Given the description of an element on the screen output the (x, y) to click on. 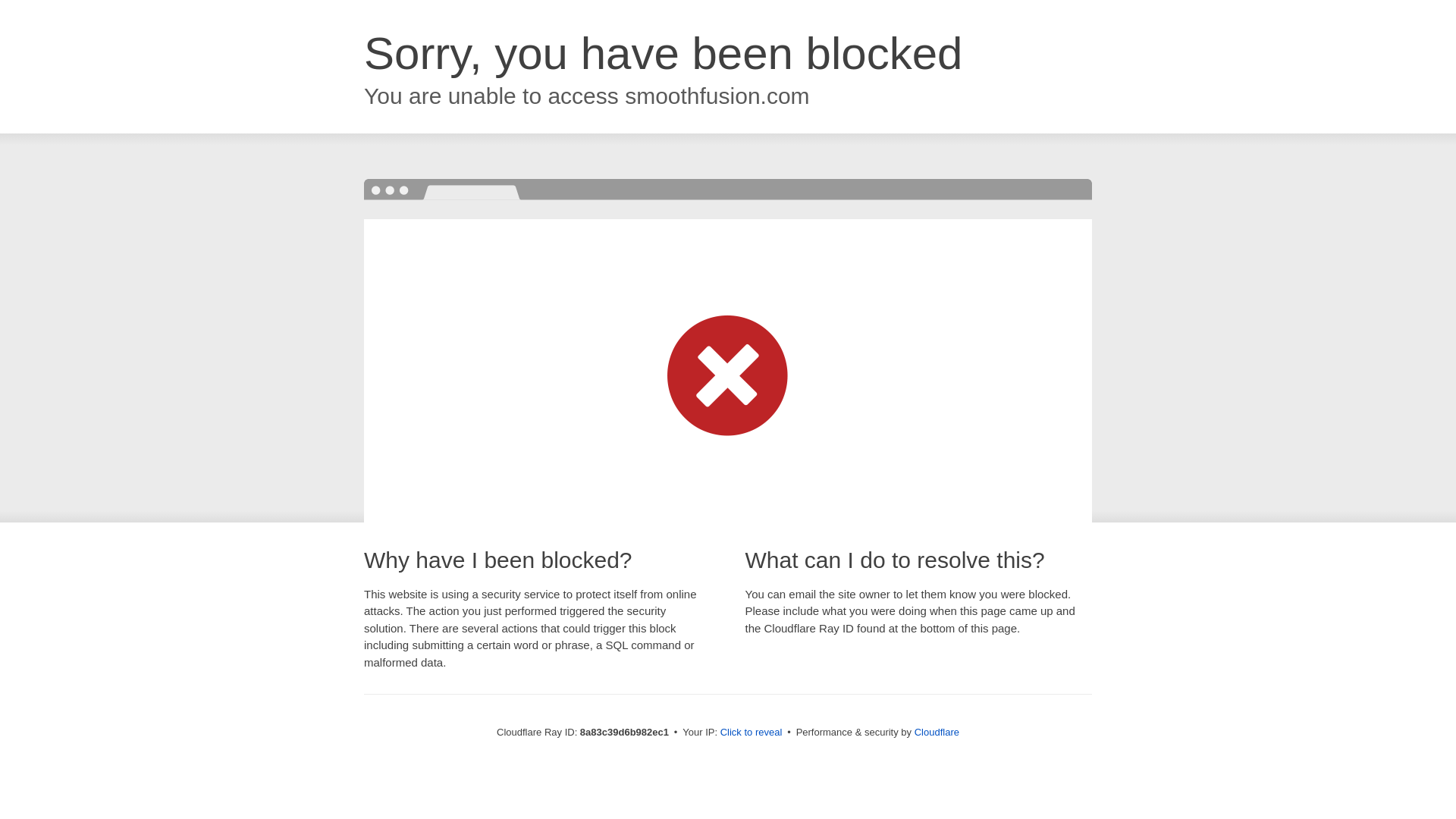
Click to reveal (751, 732)
Cloudflare (936, 731)
